Given the description of an element on the screen output the (x, y) to click on. 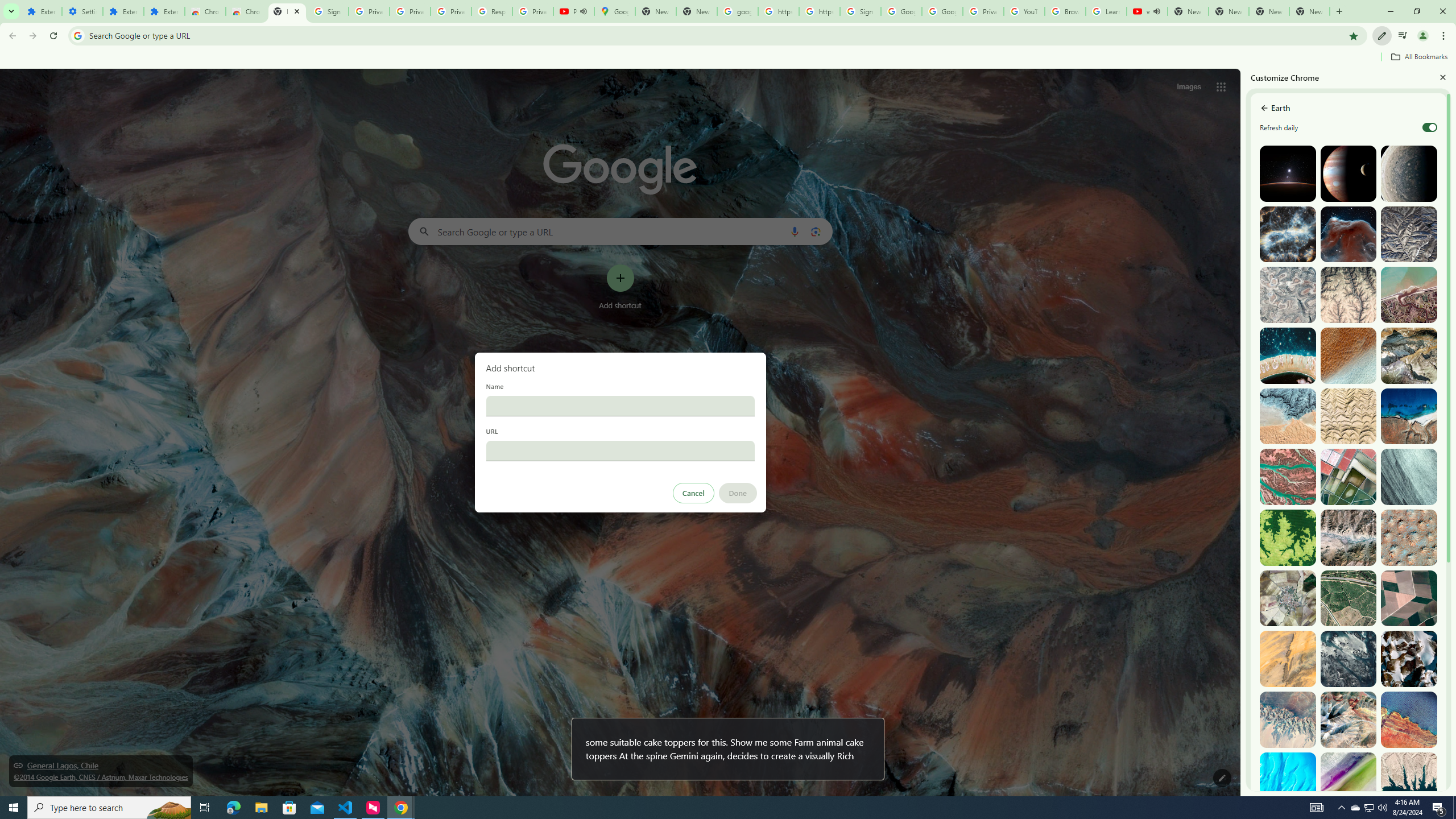
Extensions (163, 11)
Personalized AI for you | Gemini - YouTube - Audio playing (573, 11)
The Tuamotu and Gambier Islands, French Polynesia (1287, 355)
Bookmarks (728, 58)
Side Panel Resize Handle (1242, 431)
